Given the description of an element on the screen output the (x, y) to click on. 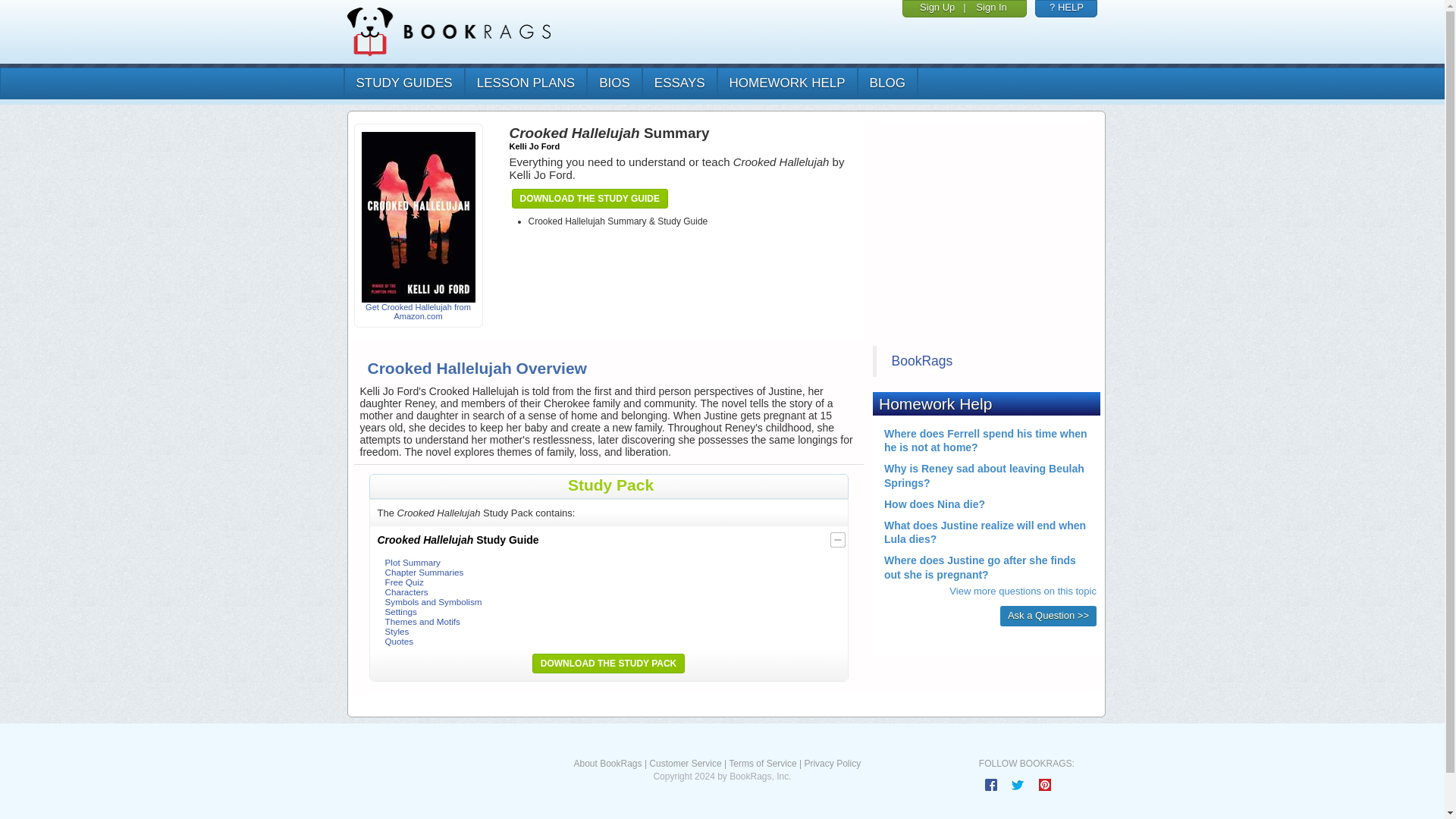
ESSAYS (679, 82)
STUDY GUIDES (402, 82)
Chapter Summaries (424, 572)
About BookRags (607, 763)
Symbols and Symbolism (433, 601)
Customer Service (684, 763)
BLOG (887, 82)
Download the Study Guide (589, 198)
Terms of Service (762, 763)
BIOS (614, 82)
